Given the description of an element on the screen output the (x, y) to click on. 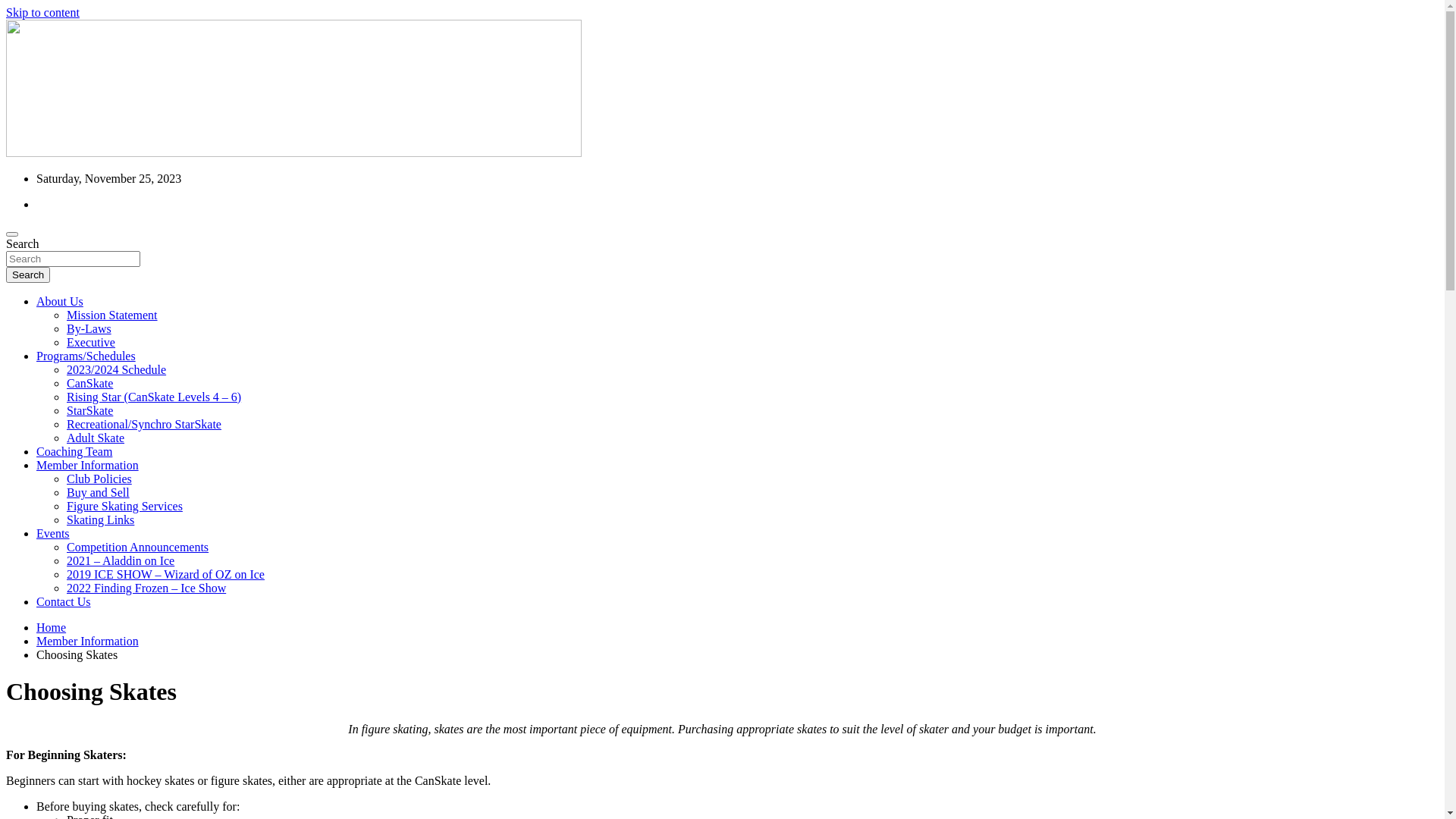
Events Element type: text (52, 533)
2023/2024 Schedule Element type: text (116, 369)
Member Information Element type: text (87, 640)
Figure Skating Services Element type: text (124, 505)
Contact Us Element type: text (63, 601)
Adult Skate Element type: text (95, 437)
CanSkate Element type: text (89, 382)
Member Information Element type: text (87, 464)
Skating Links Element type: text (100, 519)
Home Element type: text (50, 627)
By-Laws Element type: text (88, 328)
Buy and Sell Element type: text (97, 492)
StarSkate Element type: text (89, 410)
Club Policies Element type: text (98, 478)
Coaching Team Element type: text (74, 451)
Mission Statement Element type: text (111, 314)
Search Element type: text (28, 274)
Programs/Schedules Element type: text (85, 355)
Executive Element type: text (90, 341)
Recreational/Synchro StarSkate Element type: text (143, 423)
About Us Element type: text (59, 300)
Skip to content Element type: text (42, 12)
Competition Announcements Element type: text (137, 546)
